Given the description of an element on the screen output the (x, y) to click on. 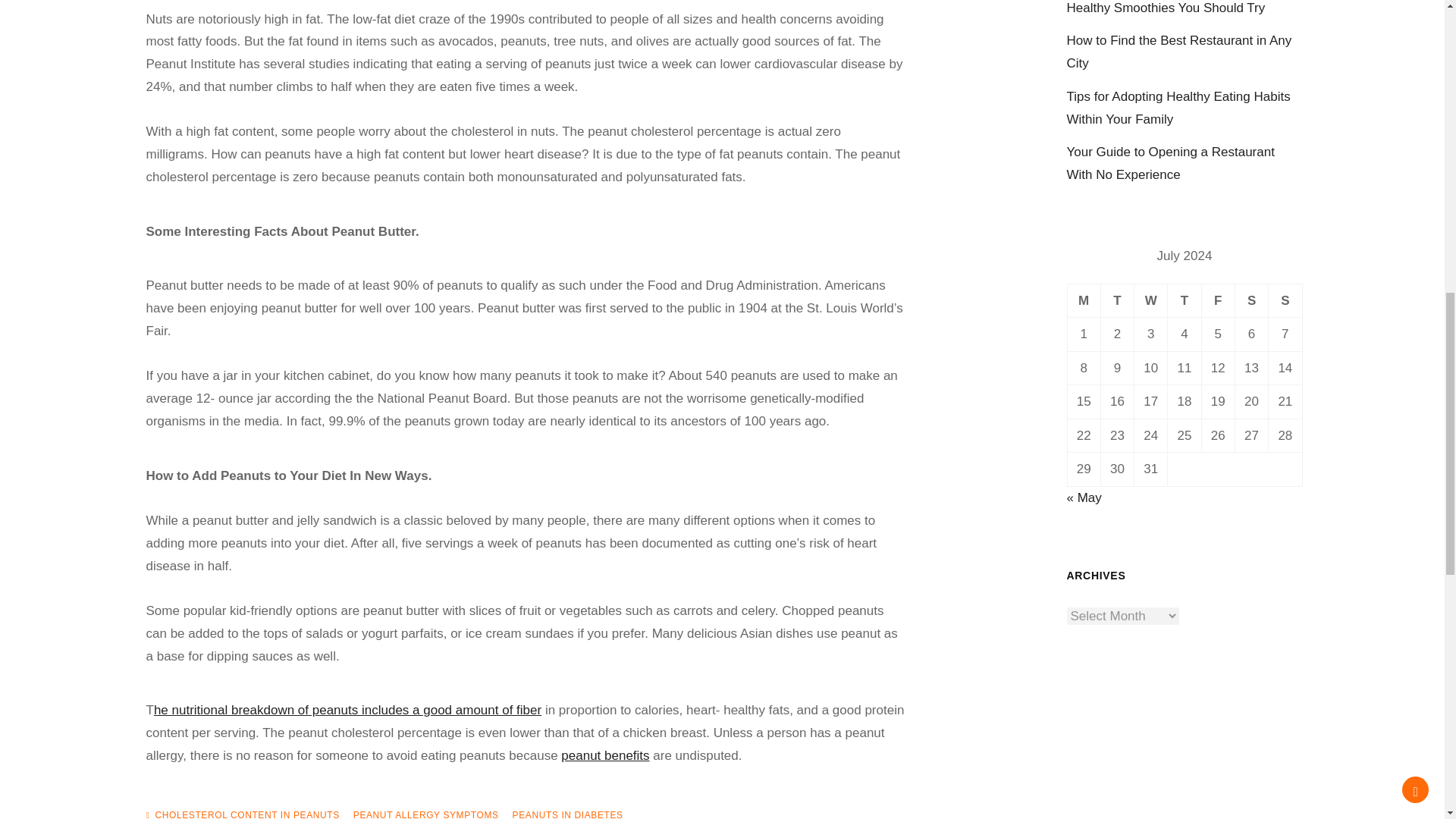
PEANUTS IN DIABETES (567, 814)
CHOLESTEROL CONTENT IN PEANUTS (246, 814)
Your Guide to Opening a Restaurant With No Experience (1169, 162)
Tips for Adopting Healthy Eating Habits Within Your Family (1177, 107)
How to Find the Best Restaurant in Any City (1178, 51)
Tuesday (1117, 300)
Saturday (1251, 300)
peanut benefits (604, 755)
PEANUT ALLERGY SYMPTOMS (426, 814)
Wednesday (1150, 300)
Thursday (1184, 300)
Friday (1217, 300)
Browse more (347, 709)
Healthy Smoothies You Should Try (1165, 7)
